Given the description of an element on the screen output the (x, y) to click on. 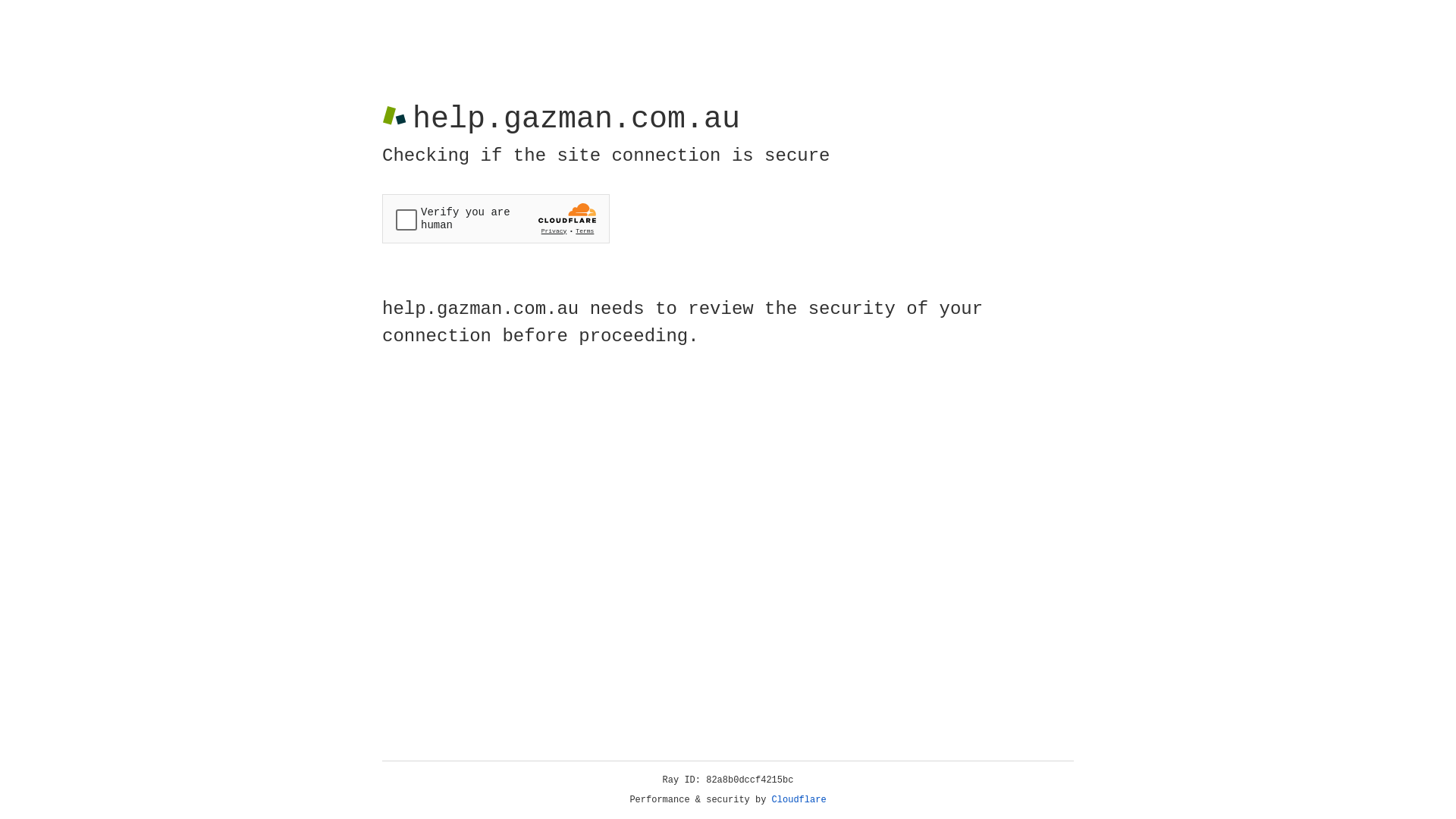
Cloudflare Element type: text (798, 799)
Widget containing a Cloudflare security challenge Element type: hover (495, 218)
